Given the description of an element on the screen output the (x, y) to click on. 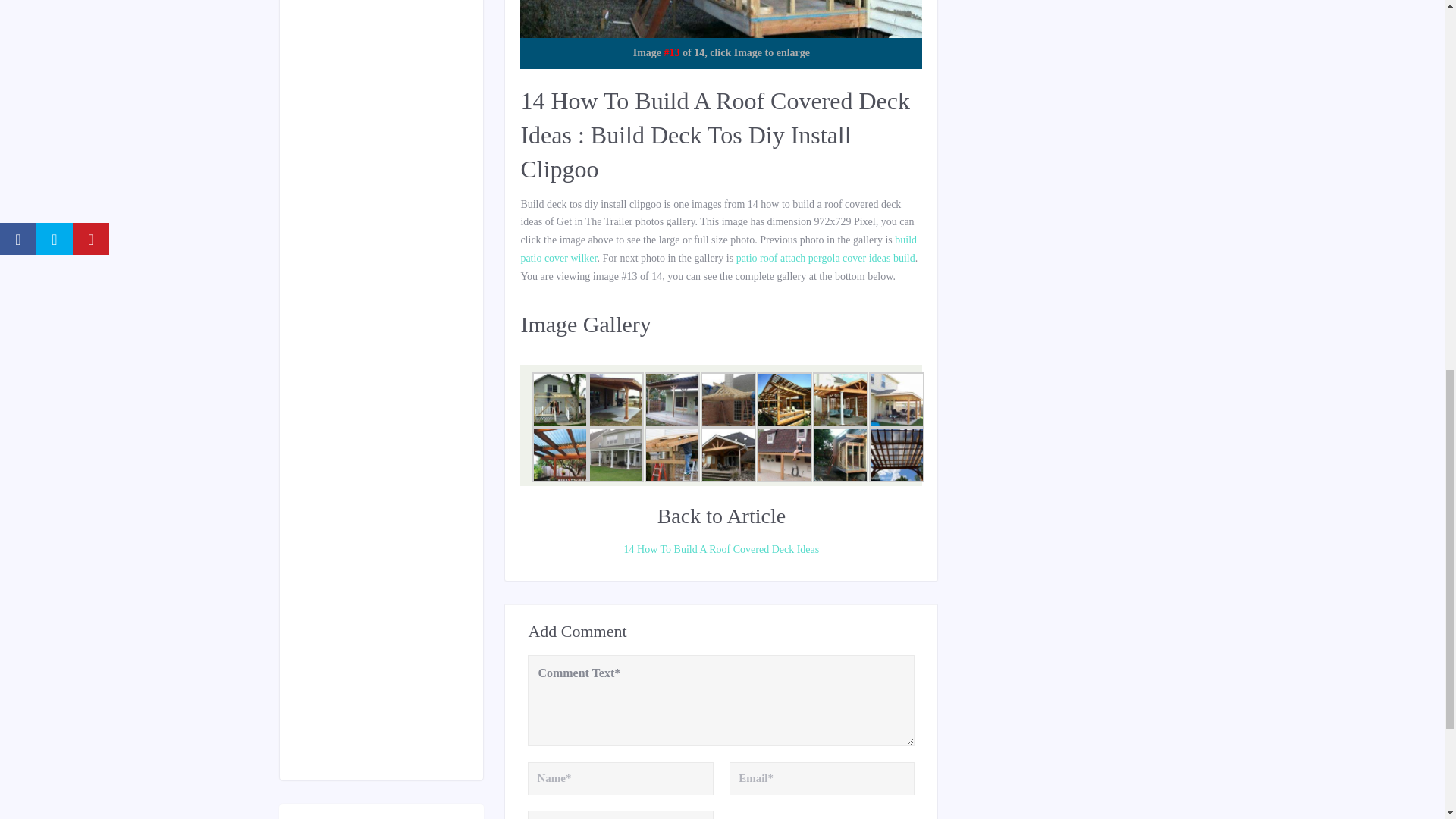
patio roof attach pergola cover ideas build (825, 257)
14 How To Build A Roof Covered Deck Ideas (720, 549)
build patio cover wilker (718, 248)
